Given the description of an element on the screen output the (x, y) to click on. 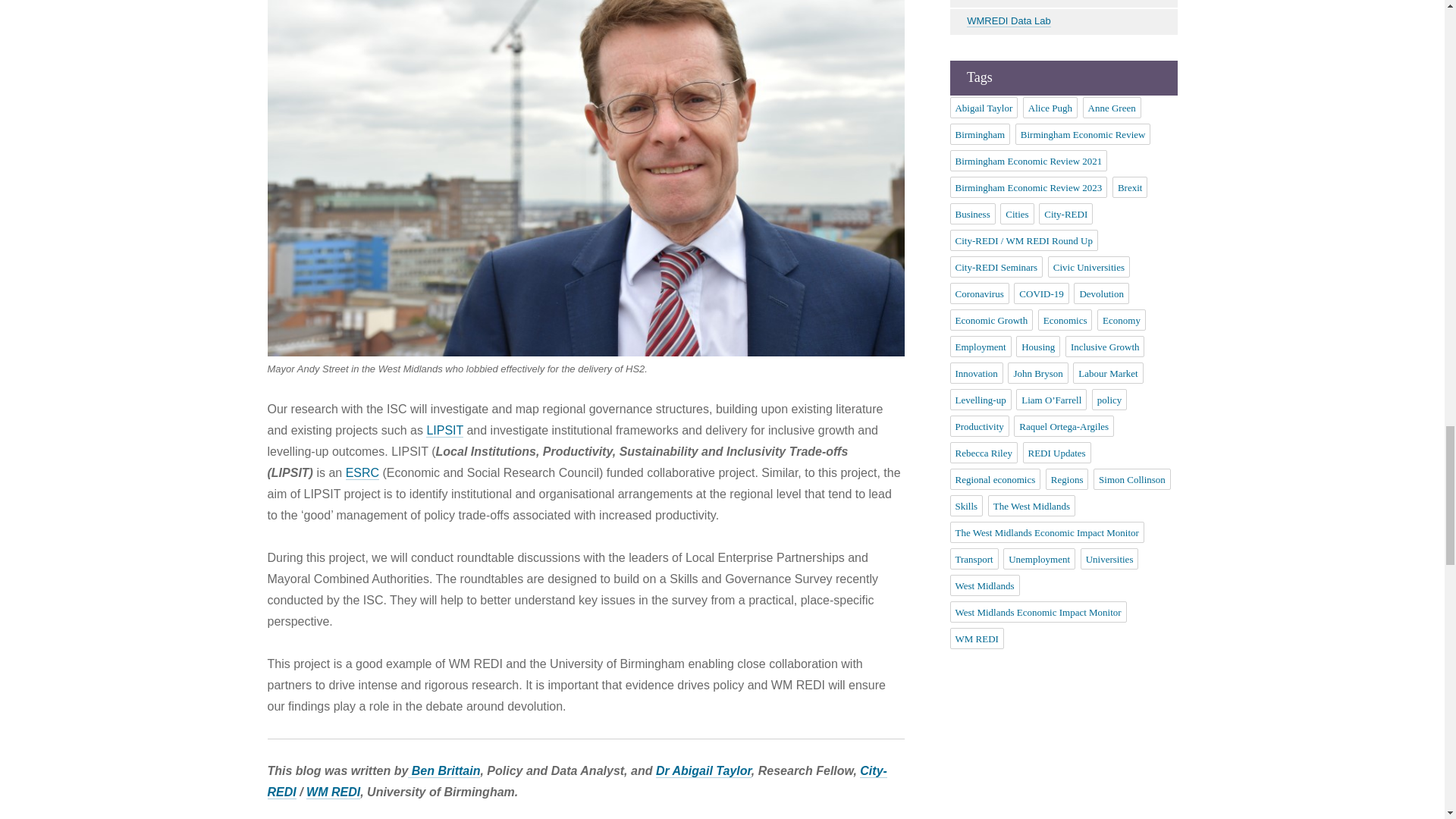
City-REDI (576, 781)
Ben Brittain (443, 771)
Dr Abigail Taylor (703, 771)
ESRC (362, 472)
WM REDI (332, 792)
LIPSIT (444, 430)
